Given the description of an element on the screen output the (x, y) to click on. 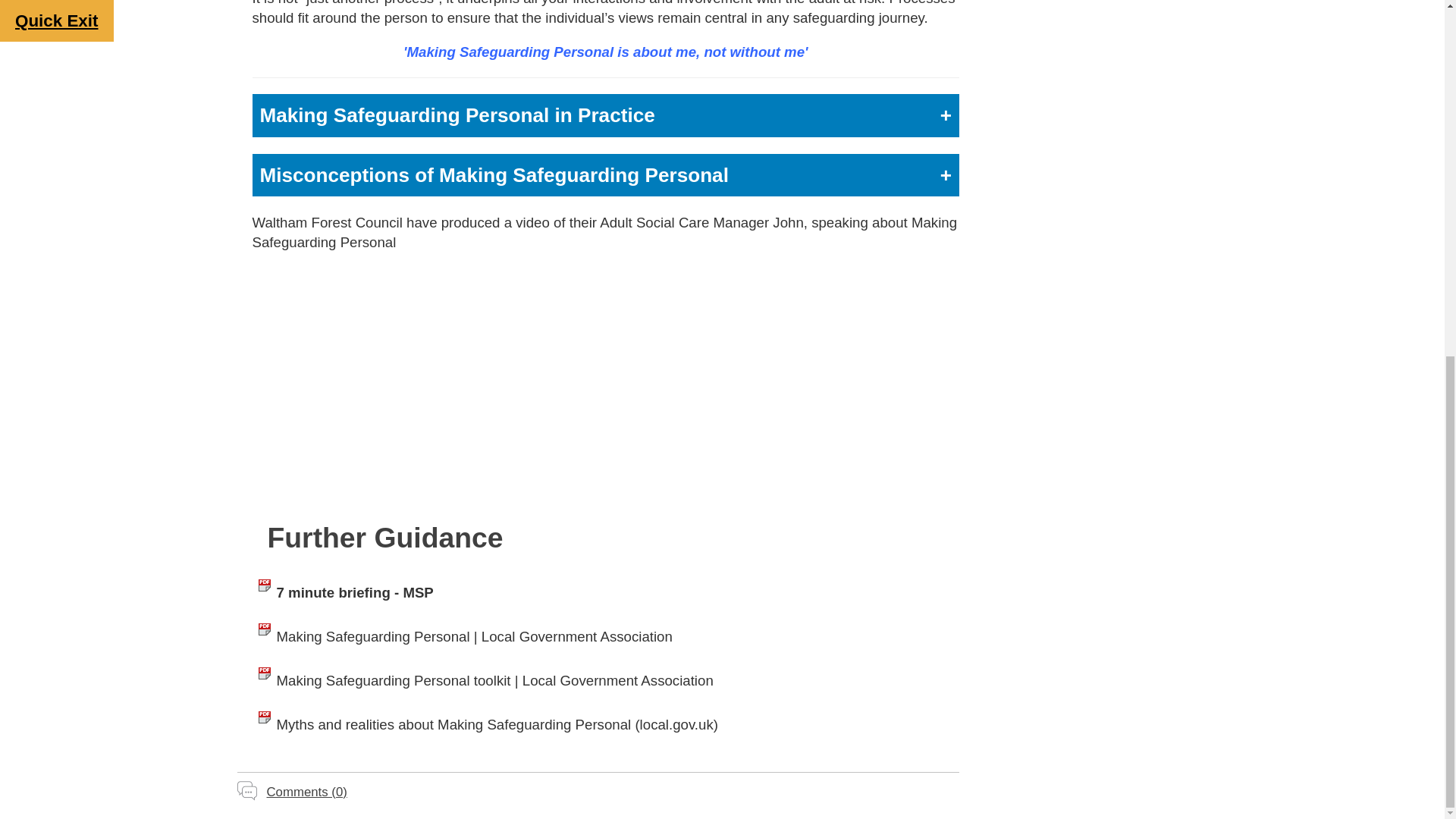
7 Minute Briefing - Advocacy (263, 636)
7 Minute Briefing - Advocacy (263, 593)
Bitesize Guide: Making Safeguarding Personal (605, 383)
7 Minute Briefing - Advocacy (263, 725)
7 Minute Briefing - Advocacy (263, 680)
